Given the description of an element on the screen output the (x, y) to click on. 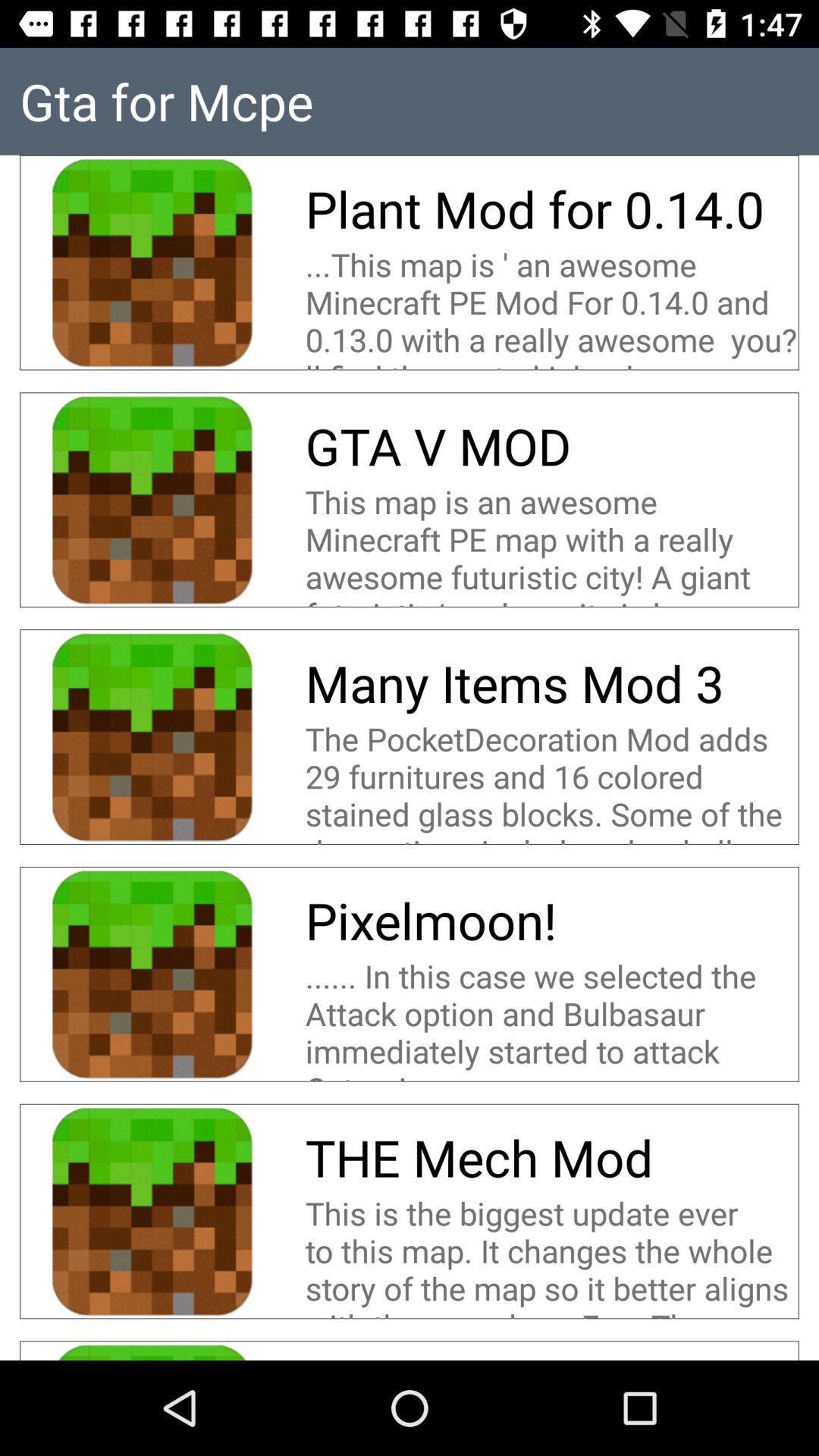
jump to the many items mod icon (520, 683)
